Given the description of an element on the screen output the (x, y) to click on. 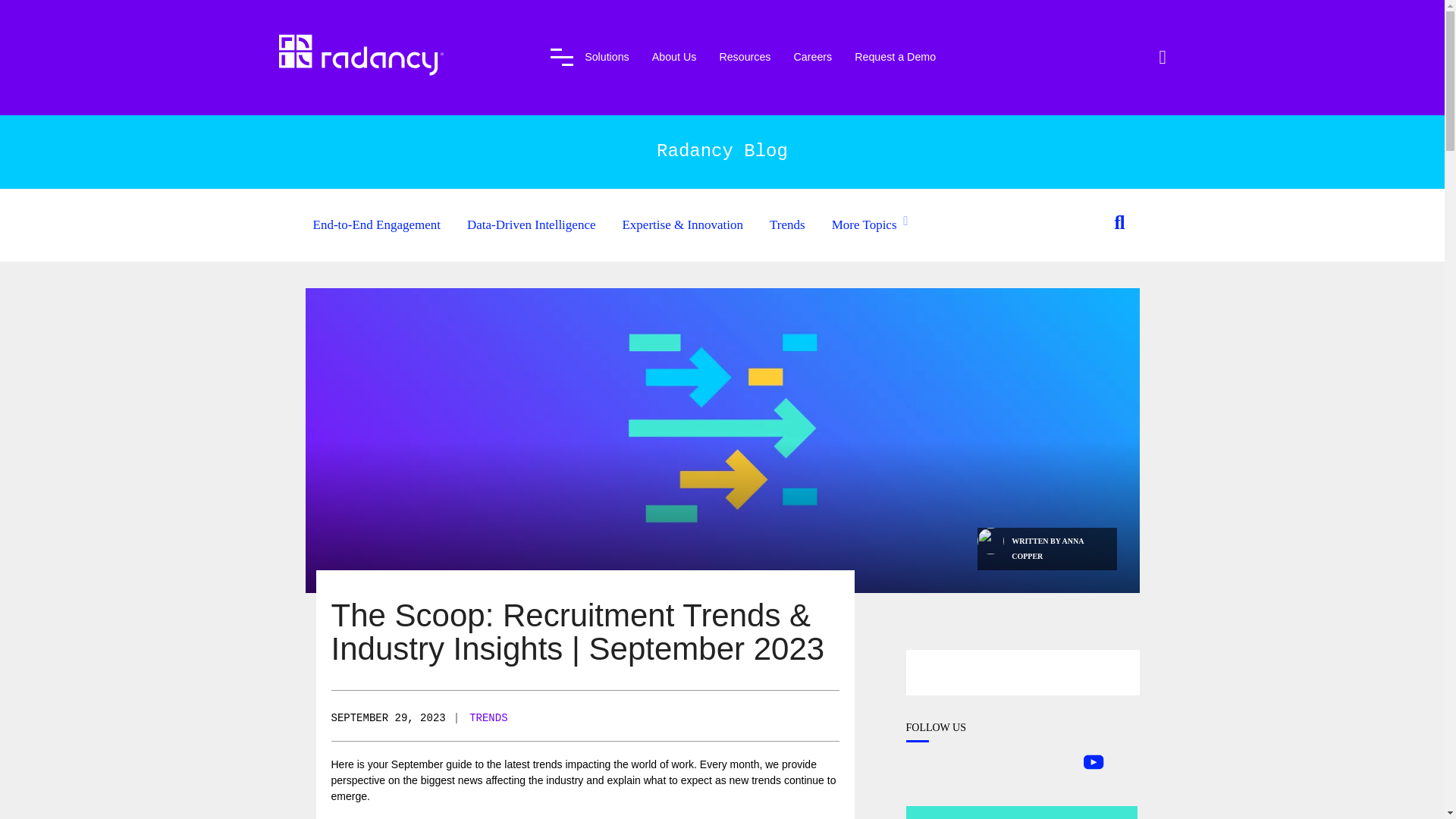
About Us (674, 59)
Request a Demo (895, 59)
Careers (812, 59)
Radancy Blog (721, 150)
Trends (787, 224)
Solutions (606, 59)
Resources (744, 59)
End-to-End Engagement (377, 224)
More Topics (863, 224)
Data-Driven Intelligence (531, 224)
